Given the description of an element on the screen output the (x, y) to click on. 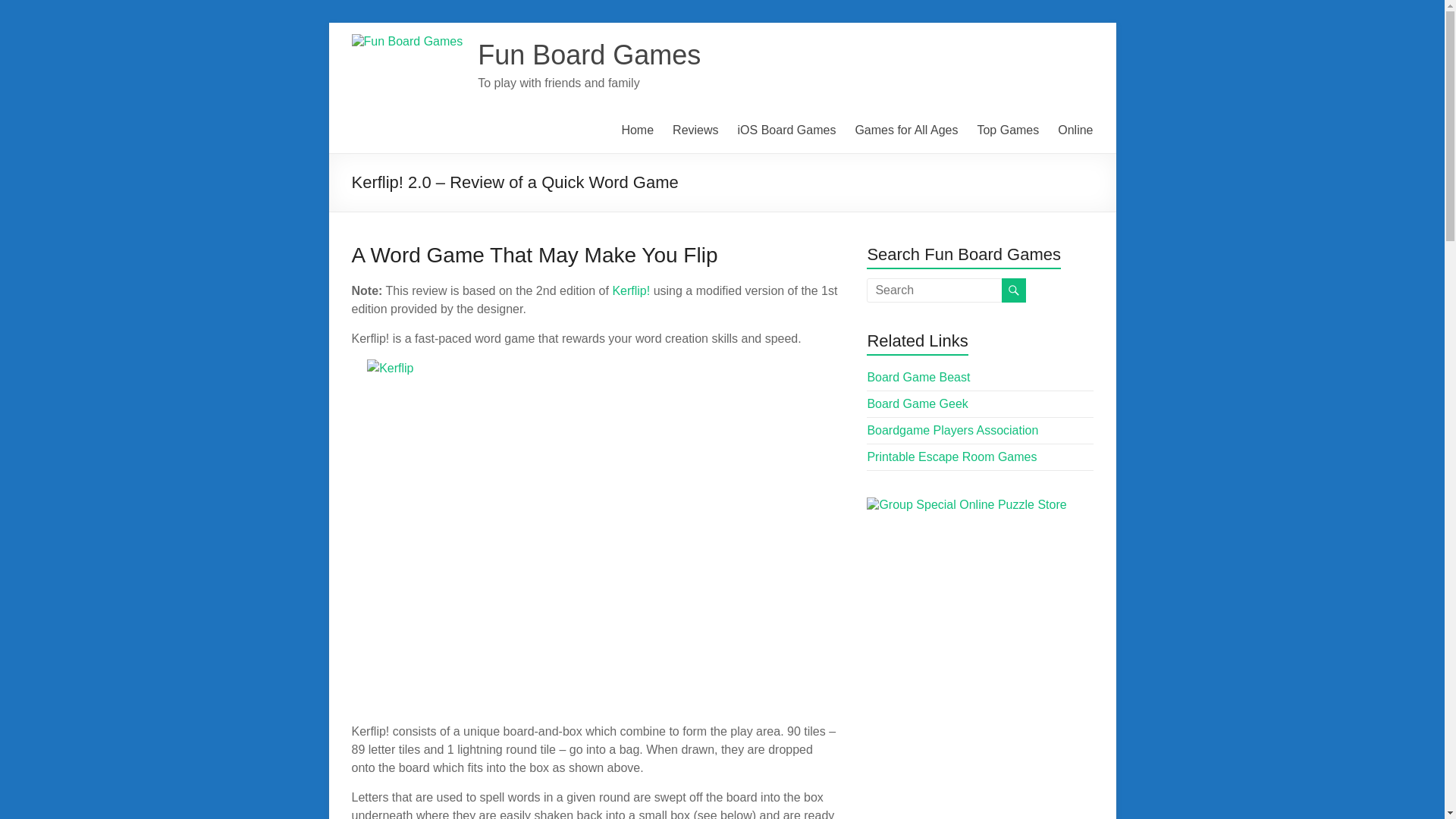
Home (637, 129)
Ultimate board gaming community and database (917, 403)
Board Game Reviews (694, 129)
Fun Board Games (637, 129)
Top Games (1007, 129)
A portal for boardgamers to enjoy their favorite games (952, 430)
Online (1075, 129)
Board Game Beast (917, 377)
Best Games by Year and Type (1007, 129)
iOS Board Games (786, 129)
